Given the description of an element on the screen output the (x, y) to click on. 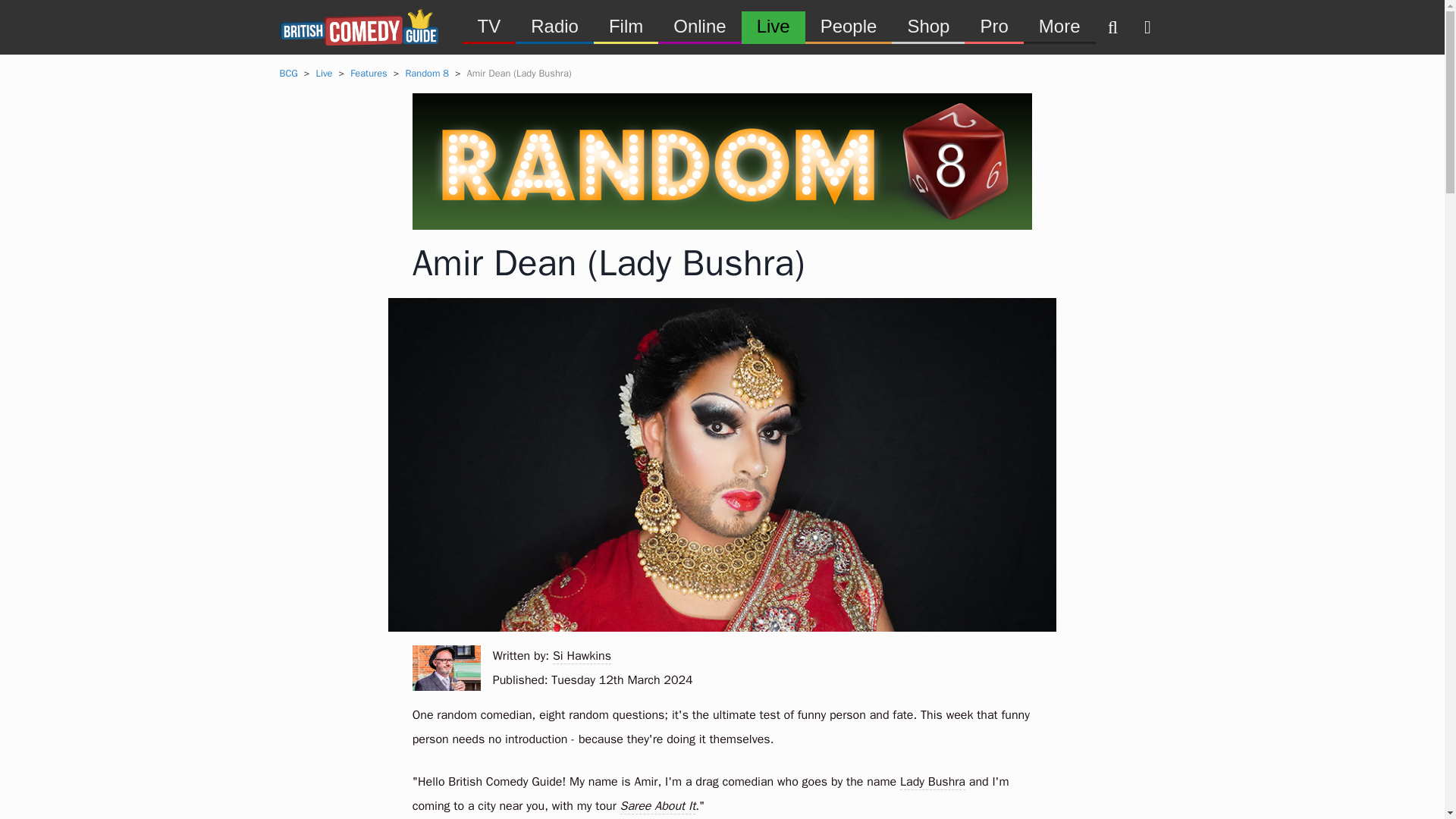
More details about Lady Bushra: Saree About It! (657, 806)
More (1059, 25)
Live (323, 73)
BCG (288, 73)
Saree About It (657, 806)
Si Hawkins (446, 668)
Live (773, 25)
Film (626, 25)
TV (489, 25)
Random 8 (426, 73)
